Given the description of an element on the screen output the (x, y) to click on. 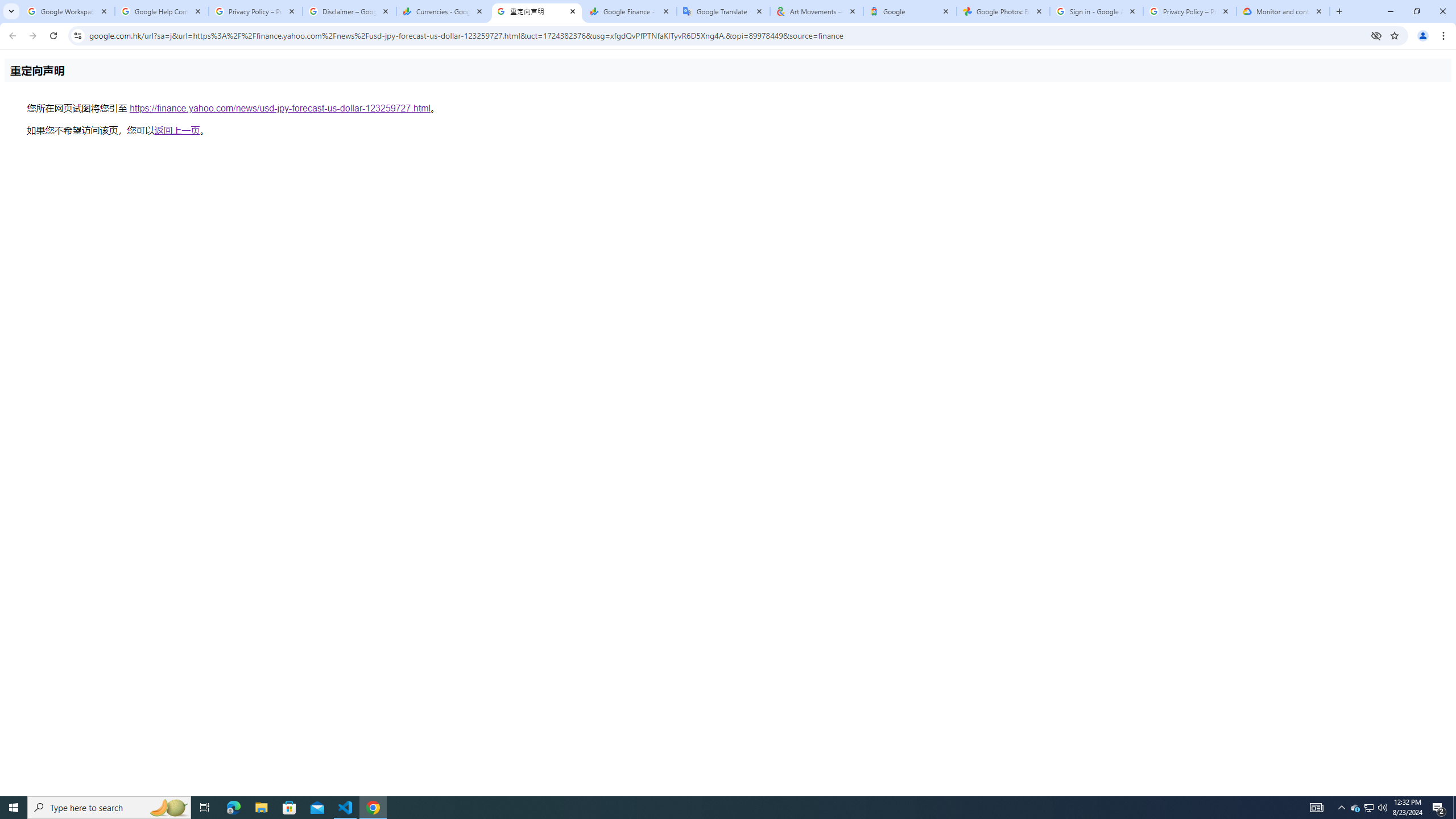
Sign in - Google Accounts (1096, 11)
